Given the description of an element on the screen output the (x, y) to click on. 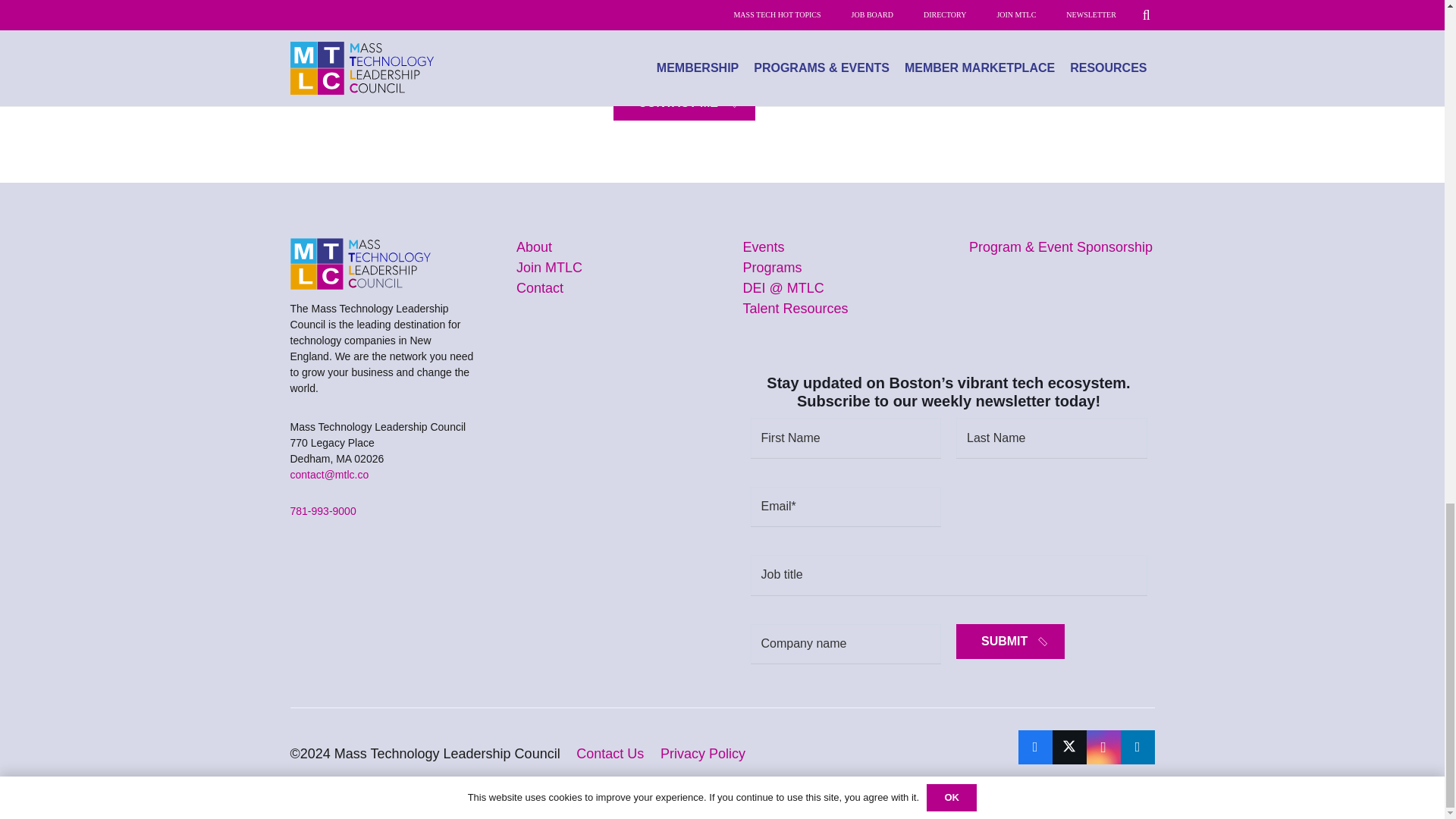
LinkedIn (1137, 747)
Twitter (1069, 747)
reCAPTCHA (709, 33)
SUBMIT (1010, 642)
Facebook (1034, 747)
Contact me (683, 103)
Instagram (1102, 747)
